Given the description of an element on the screen output the (x, y) to click on. 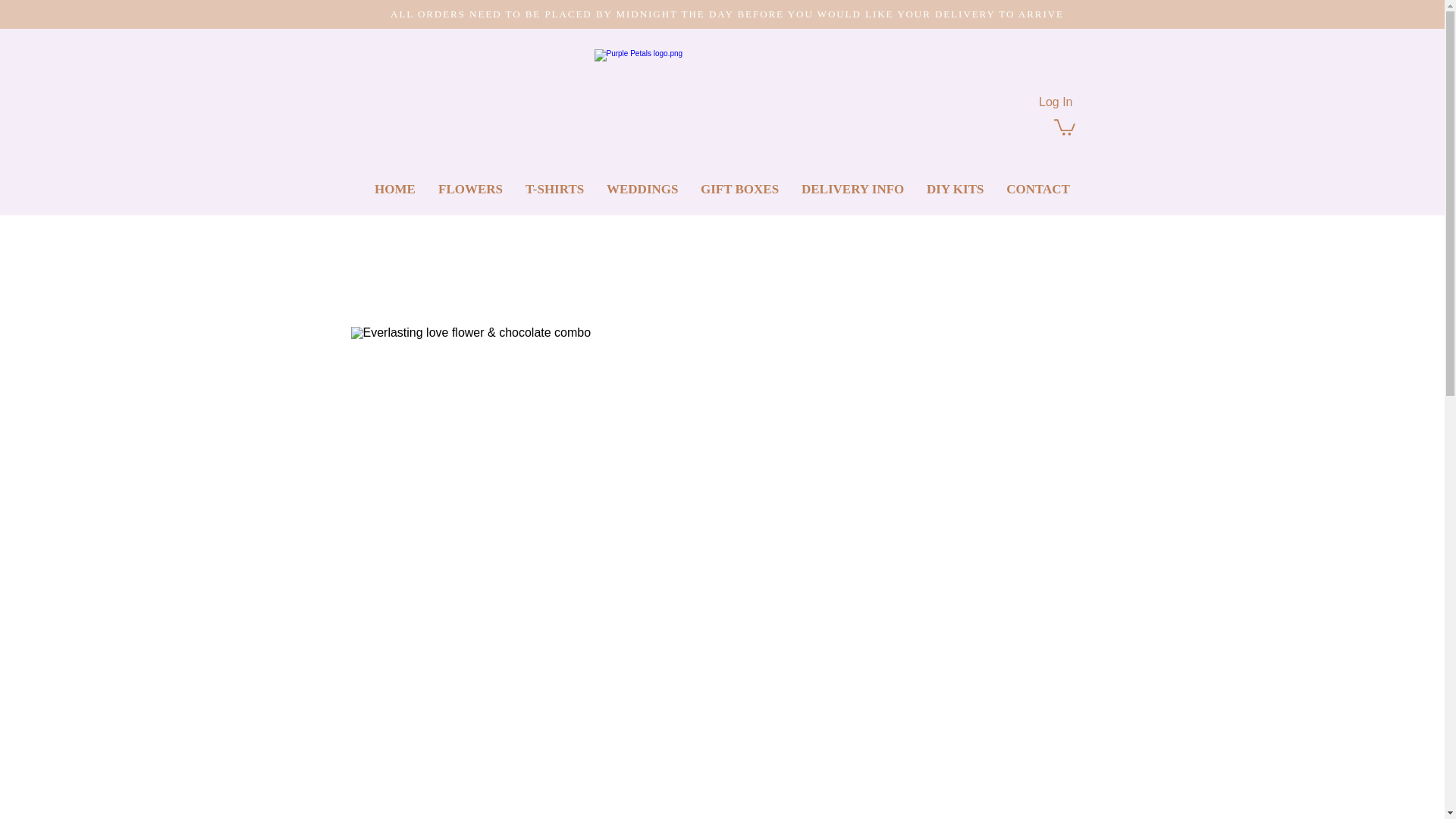
GIFT BOXES (739, 189)
WEDDINGS (641, 189)
DIY KITS (954, 189)
Log In (1055, 102)
HOME (394, 189)
DELIVERY INFO (852, 189)
T-SHIRTS (554, 189)
FLOWERS (469, 189)
CONTACT (1037, 189)
